Given the description of an element on the screen output the (x, y) to click on. 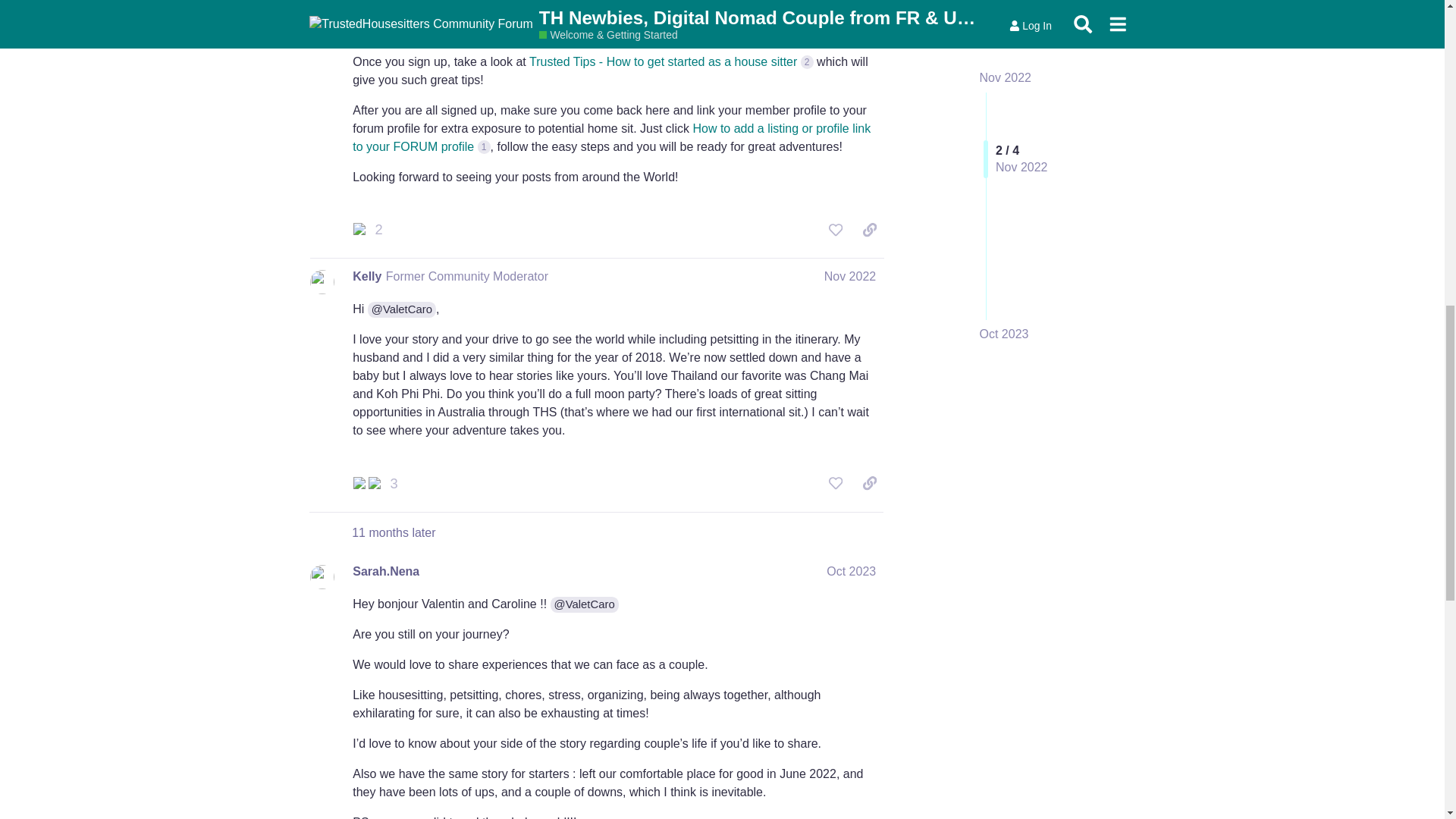
1 click (483, 146)
How to add a listing or profile link to your FORUM profile 1 (611, 137)
Nov 2022 (850, 276)
Sarah.Nena (385, 571)
Trusted Tips - How to get started as a house sitter 2 (671, 61)
2 clicks (806, 61)
Please sign up or log in to like this post (835, 229)
Kelly (366, 276)
